Given the description of an element on the screen output the (x, y) to click on. 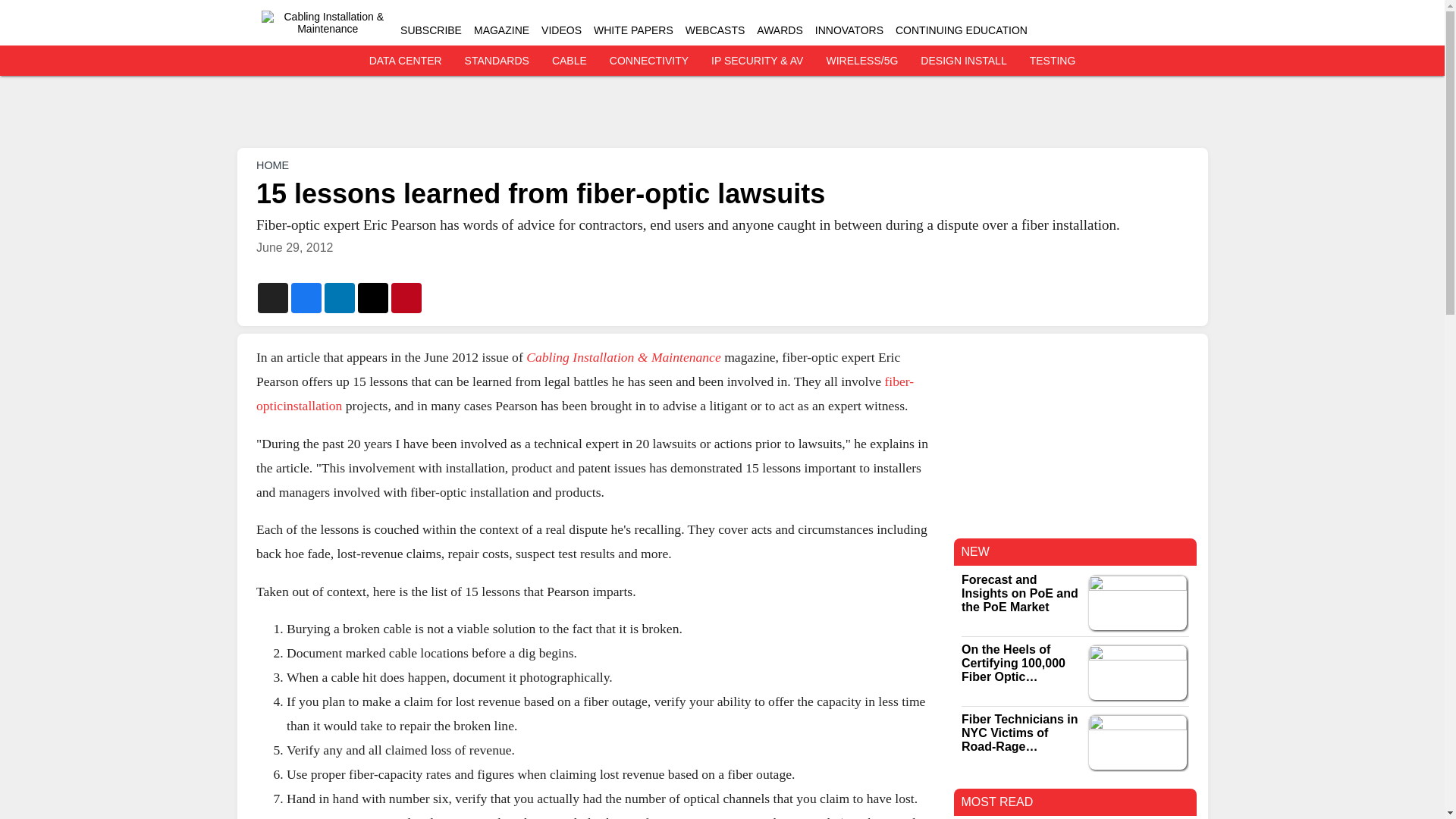
SUBSCRIBE (430, 30)
CABLE (568, 60)
VIDEOS (560, 30)
fiber-optic (585, 393)
AWARDS (779, 30)
WEBCASTS (715, 30)
STANDARDS (496, 60)
TESTING (1052, 60)
DESIGN INSTALL (963, 60)
INNOVATORS (849, 30)
